Given the description of an element on the screen output the (x, y) to click on. 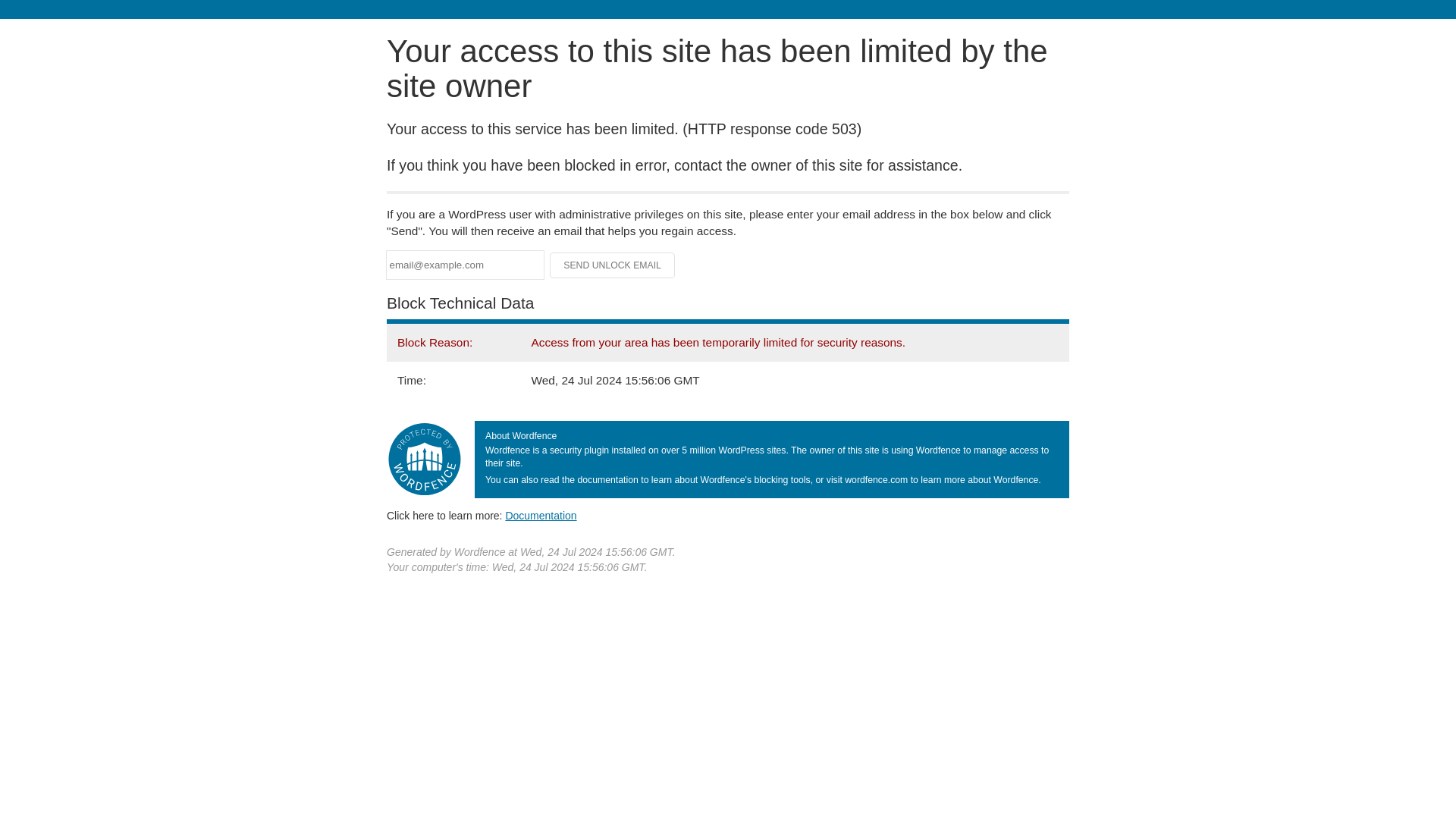
Send Unlock Email (612, 265)
Documentation (540, 515)
Send Unlock Email (612, 265)
